Given the description of an element on the screen output the (x, y) to click on. 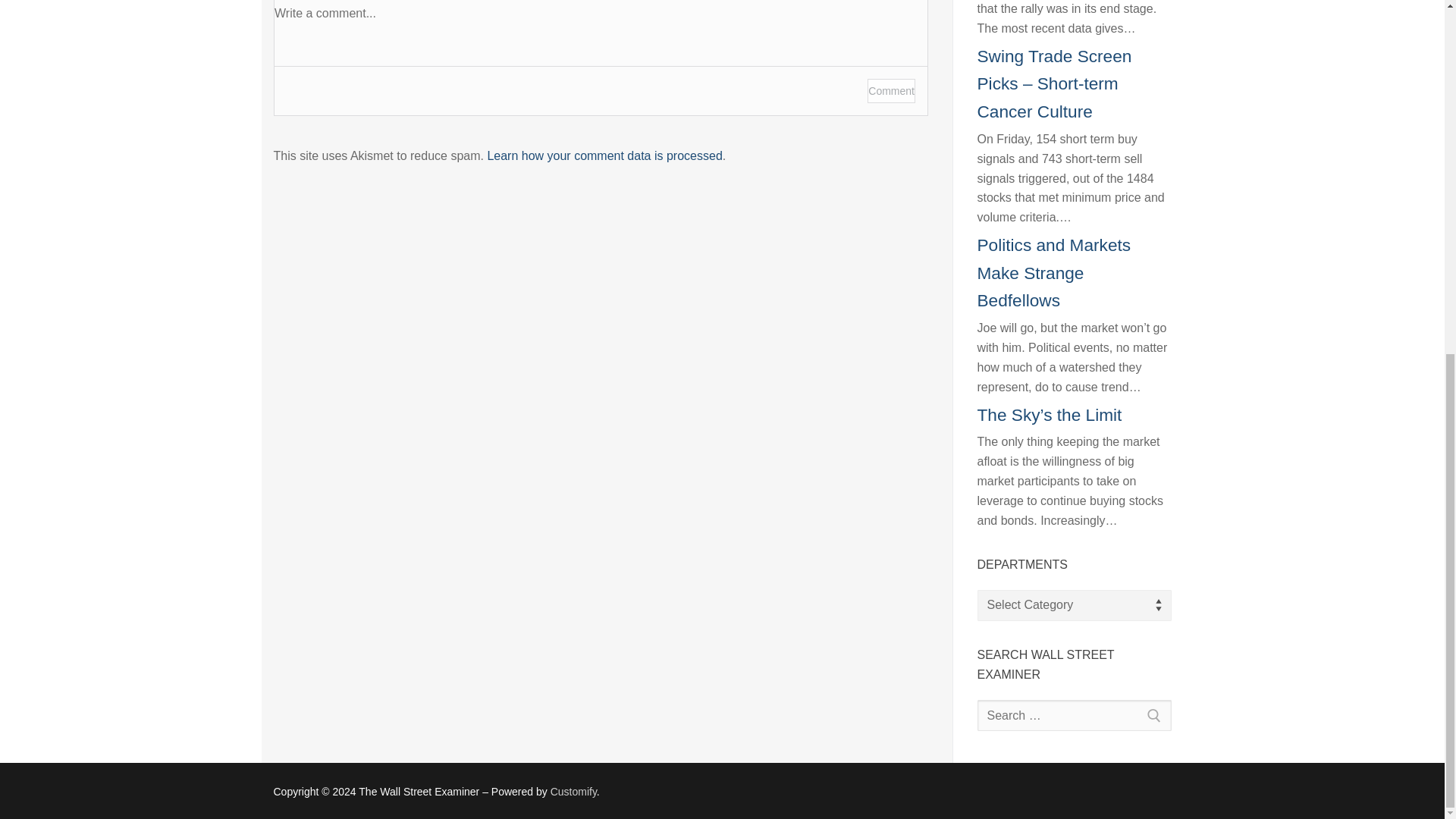
Search for: (1073, 716)
Comment Form (600, 58)
Learn how your comment data is processed (604, 155)
